Given the description of an element on the screen output the (x, y) to click on. 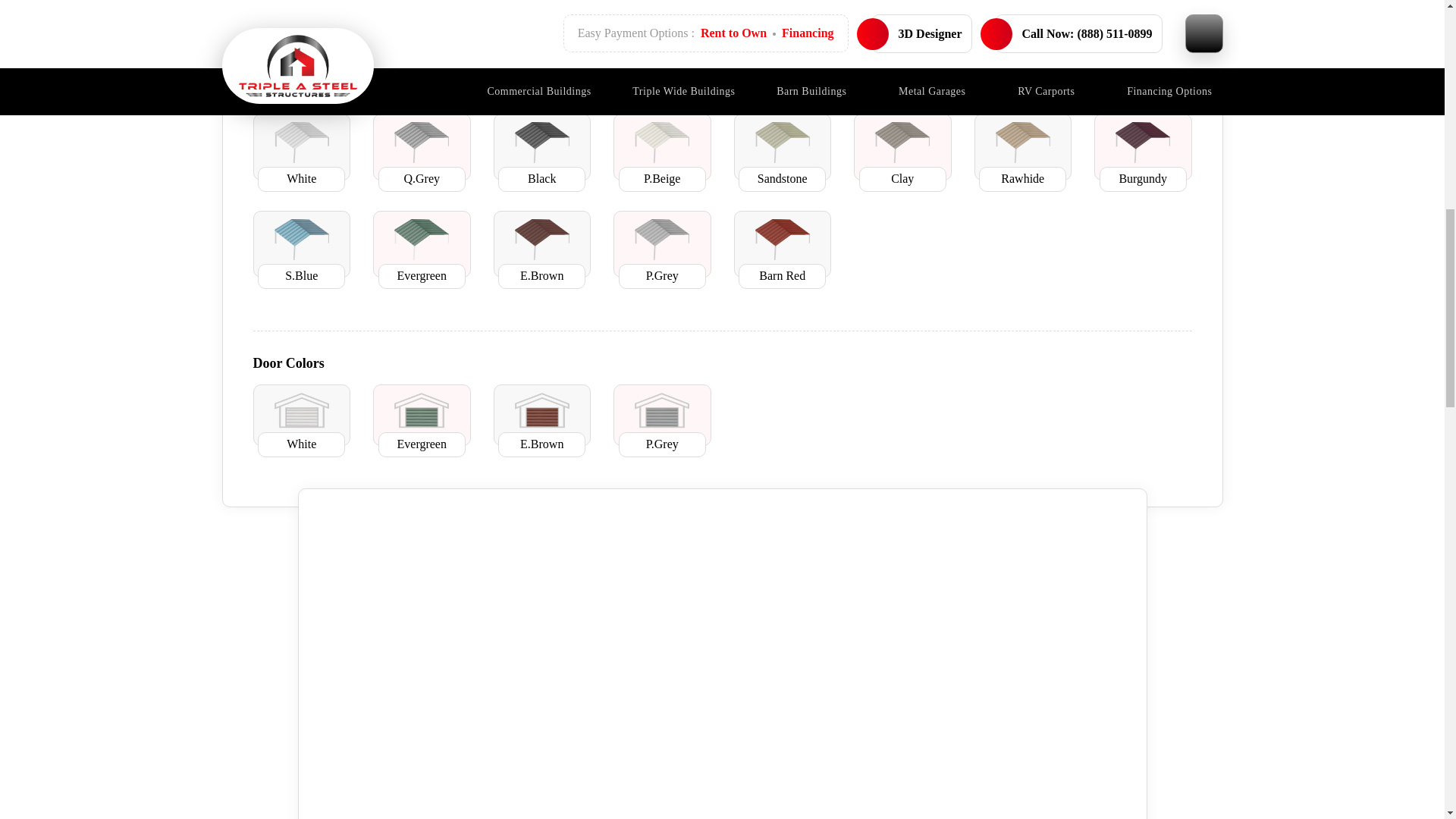
White (302, 410)
Sandstone (782, 142)
Clay (902, 142)
White (302, 142)
Beige (661, 142)
Black (542, 142)
E.Brown (542, 410)
Barn Red (782, 239)
P.Grey (661, 239)
E.Brown (542, 239)
